Given the description of an element on the screen output the (x, y) to click on. 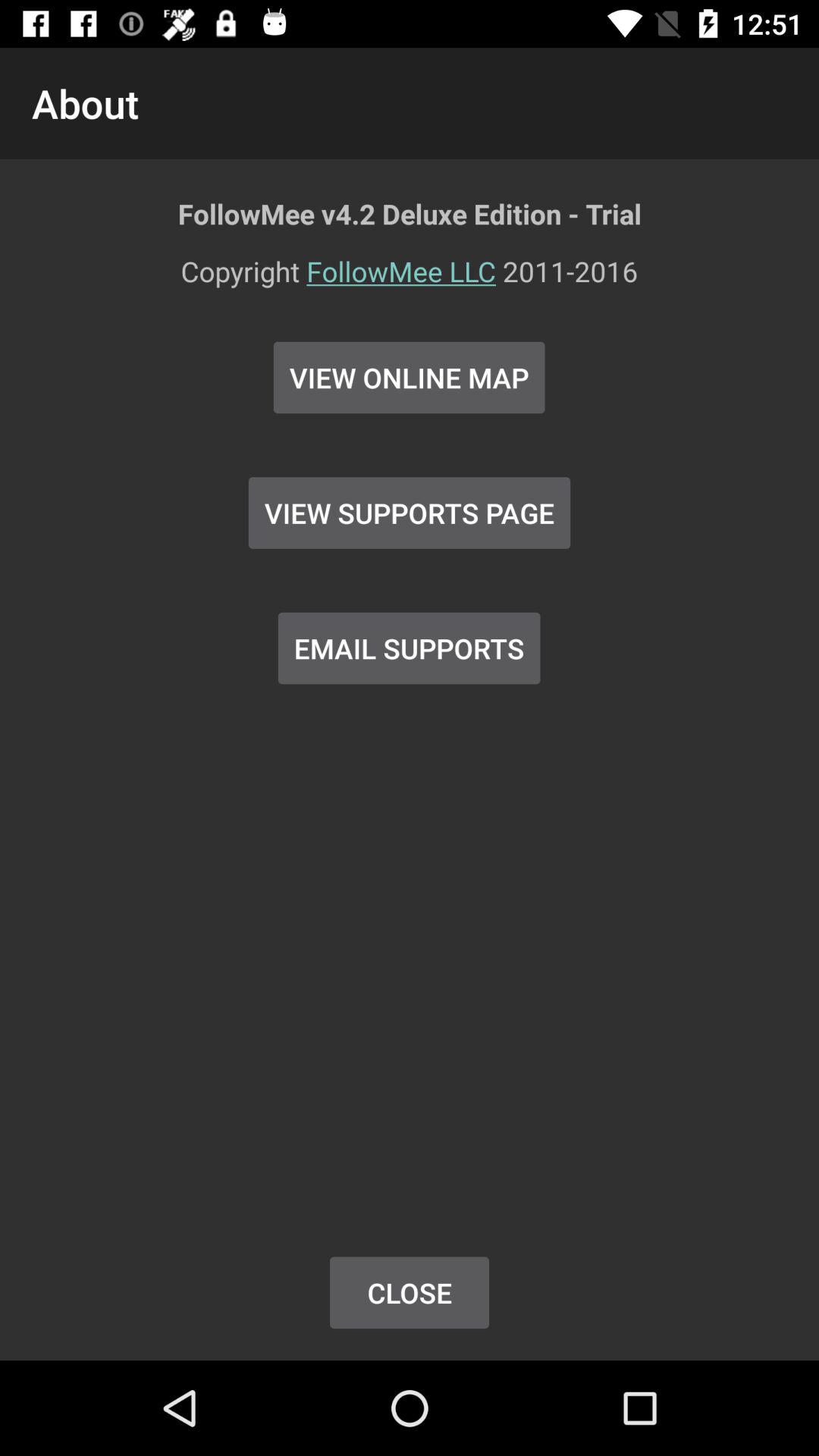
turn on the icon above the view online map item (409, 280)
